Given the description of an element on the screen output the (x, y) to click on. 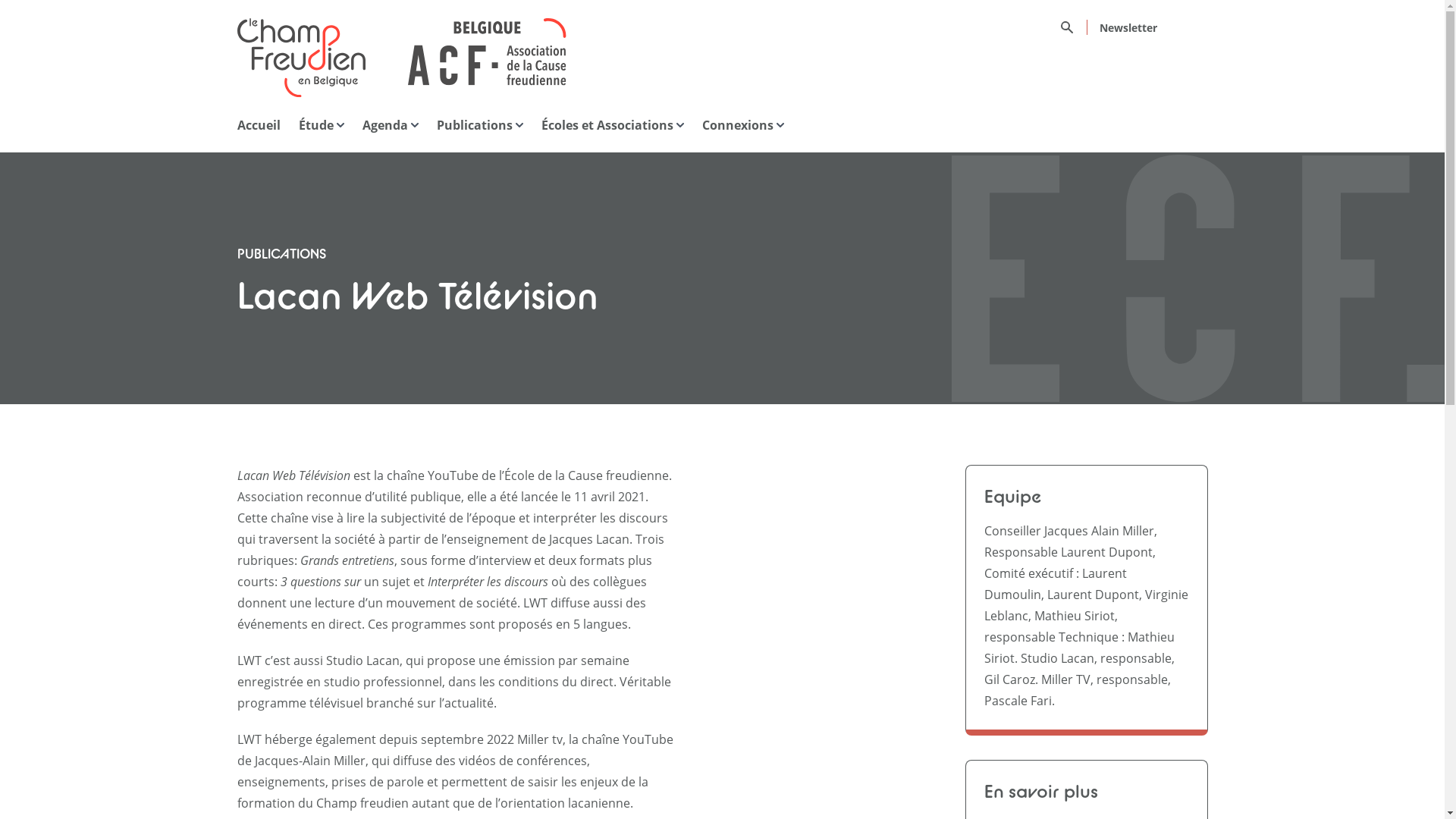
Publications Element type: text (479, 125)
Newsletter Element type: text (1128, 27)
Recherche Element type: text (1072, 26)
Agenda Element type: text (390, 125)
Accueil Element type: text (257, 125)
Connexions Element type: text (743, 125)
